Given the description of an element on the screen output the (x, y) to click on. 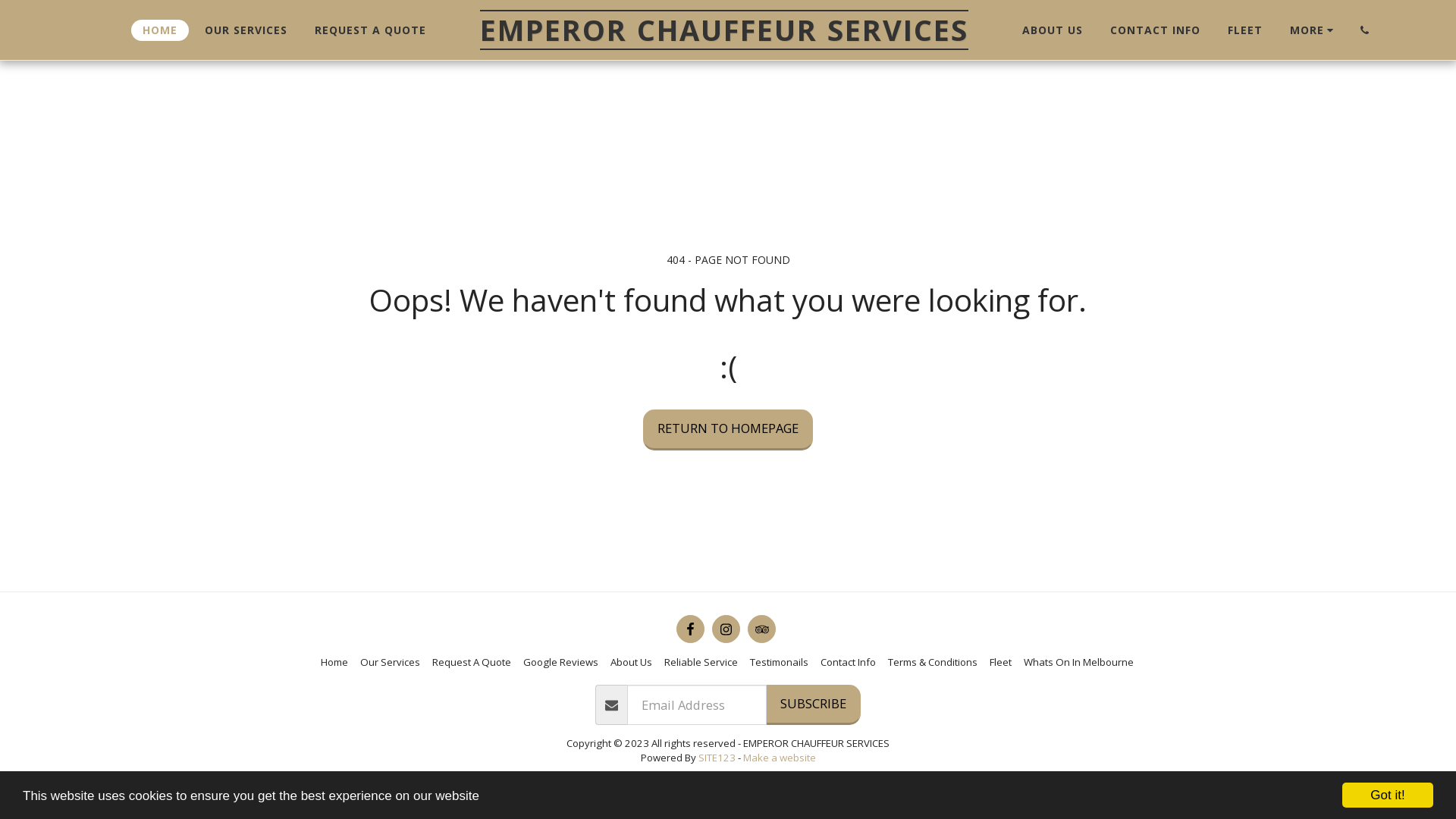
Terms & Conditions Element type: text (931, 661)
Whats On In Melbourne  Element type: text (1079, 661)
CONTACT INFO Element type: text (1154, 29)
SUBSCRIBE Element type: text (812, 704)
  Element type: text (726, 629)
Home Element type: text (333, 661)
Make a website Element type: text (779, 757)
  Element type: text (690, 629)
RETURN TO HOMEPAGE Element type: text (727, 429)
ABOUT US Element type: text (1052, 29)
About Us Element type: text (630, 661)
Contact Info Element type: text (847, 661)
  Element type: text (1363, 29)
Request A Quote Element type: text (471, 661)
Testimonails Element type: text (778, 661)
EMPEROR CHAUFFEUR SERVICES Element type: text (724, 30)
SITE123 Element type: text (715, 757)
REQUEST A QUOTE Element type: text (370, 29)
MORE   Element type: text (1313, 29)
Google Reviews Element type: text (560, 661)
Our Services Element type: text (389, 661)
HOME Element type: text (159, 29)
Reliable Service Element type: text (700, 661)
Got it! Element type: text (1387, 794)
  Element type: text (761, 629)
Fleet Element type: text (999, 661)
FLEET Element type: text (1245, 29)
OUR SERVICES Element type: text (245, 29)
